Given the description of an element on the screen output the (x, y) to click on. 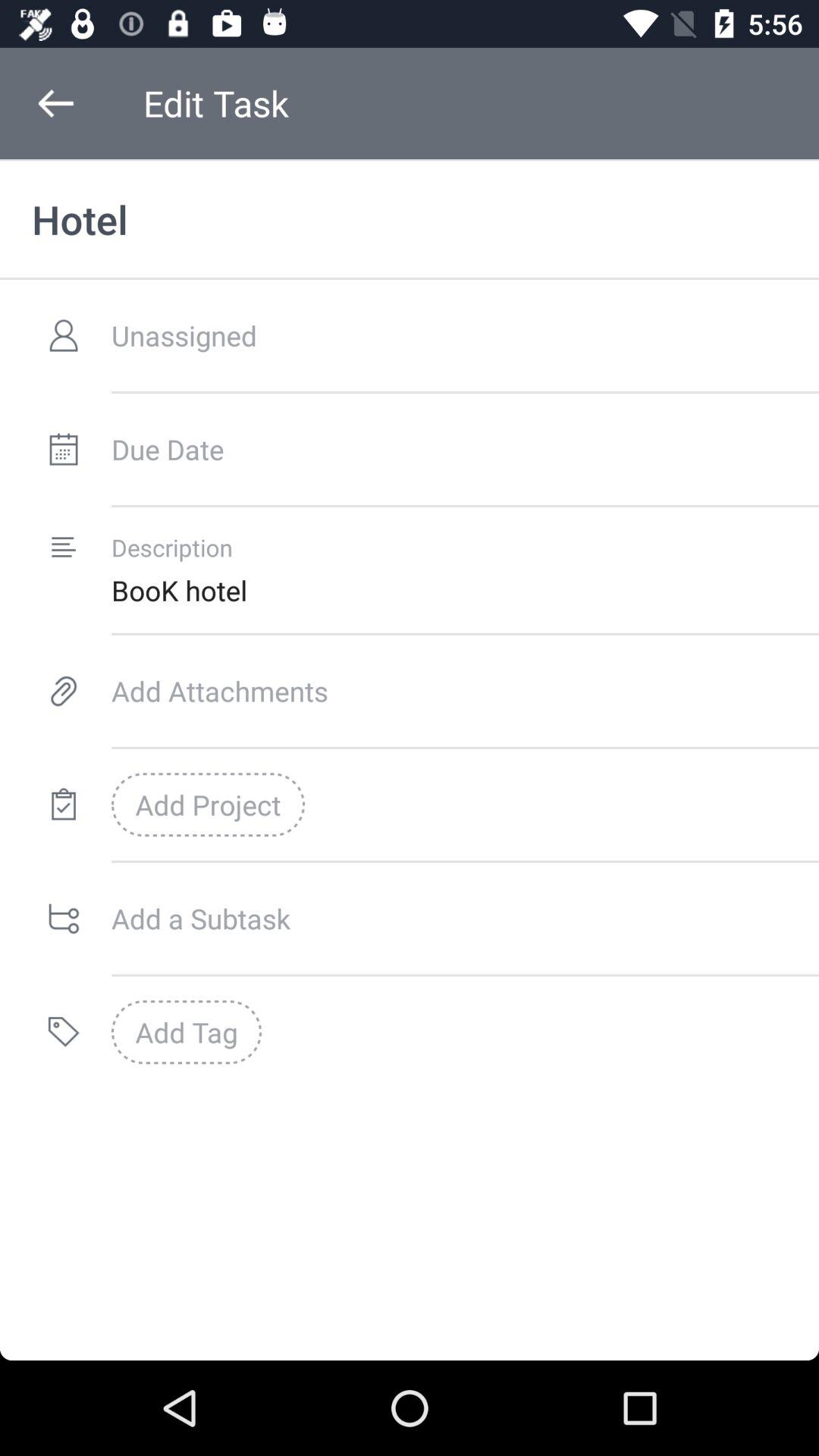
scroll to the book hotel (465, 590)
